Given the description of an element on the screen output the (x, y) to click on. 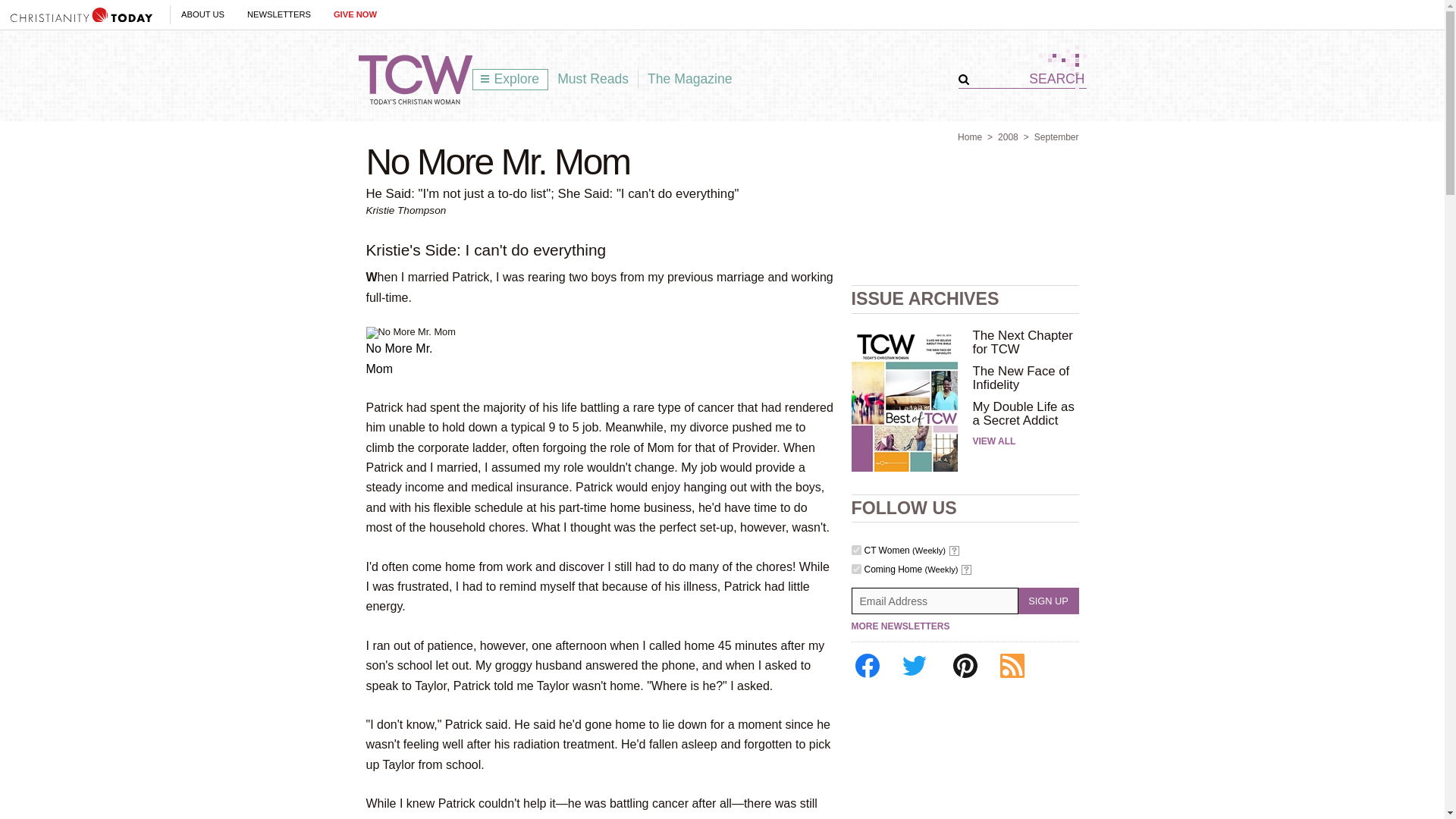
Sign Up (1047, 601)
57 (855, 550)
SEARCH (1027, 78)
45 (855, 569)
NEWSLETTERS (278, 14)
Today's Christian Woman (414, 79)
Christianity Today (81, 14)
No More Mr. Mom (409, 332)
ABOUT US (202, 14)
GIVE NOW (355, 14)
